Given the description of an element on the screen output the (x, y) to click on. 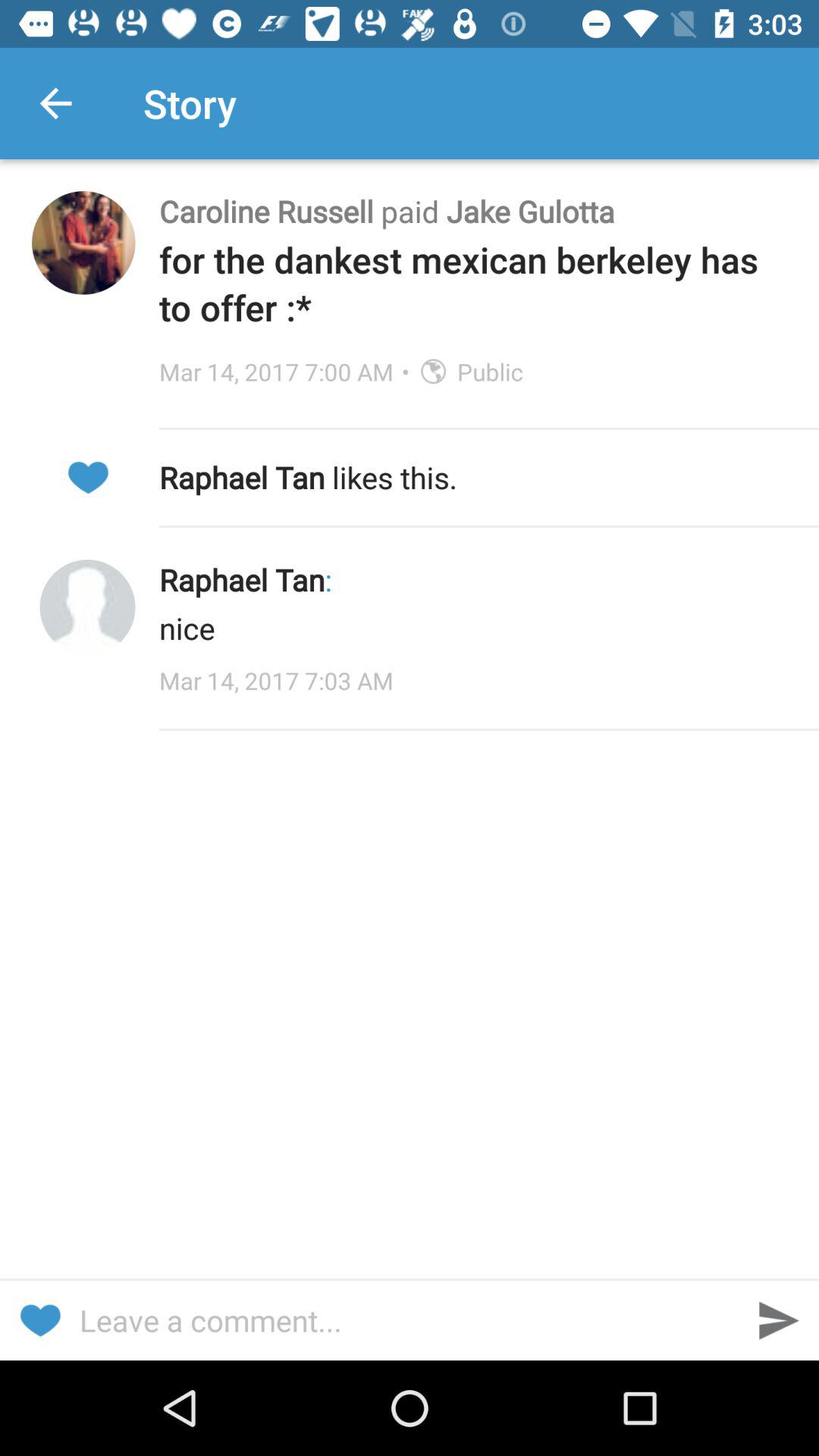
launch item to the left of caroline russell paid item (83, 242)
